Given the description of an element on the screen output the (x, y) to click on. 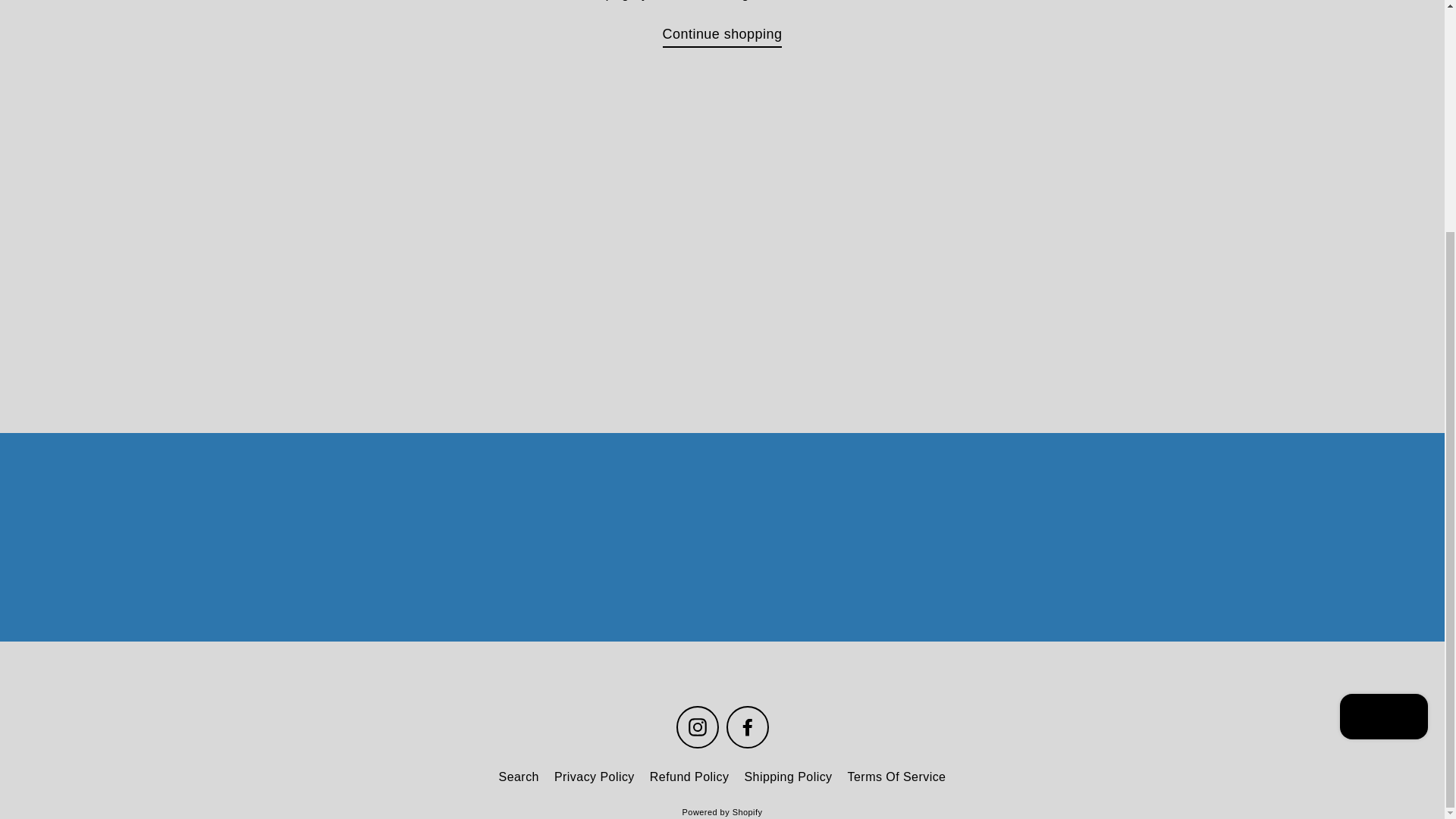
Shopify online store chat (1383, 404)
RC Gadgetz on Instagram (698, 726)
RC Gadgetz on Facebook (747, 726)
